Given the description of an element on the screen output the (x, y) to click on. 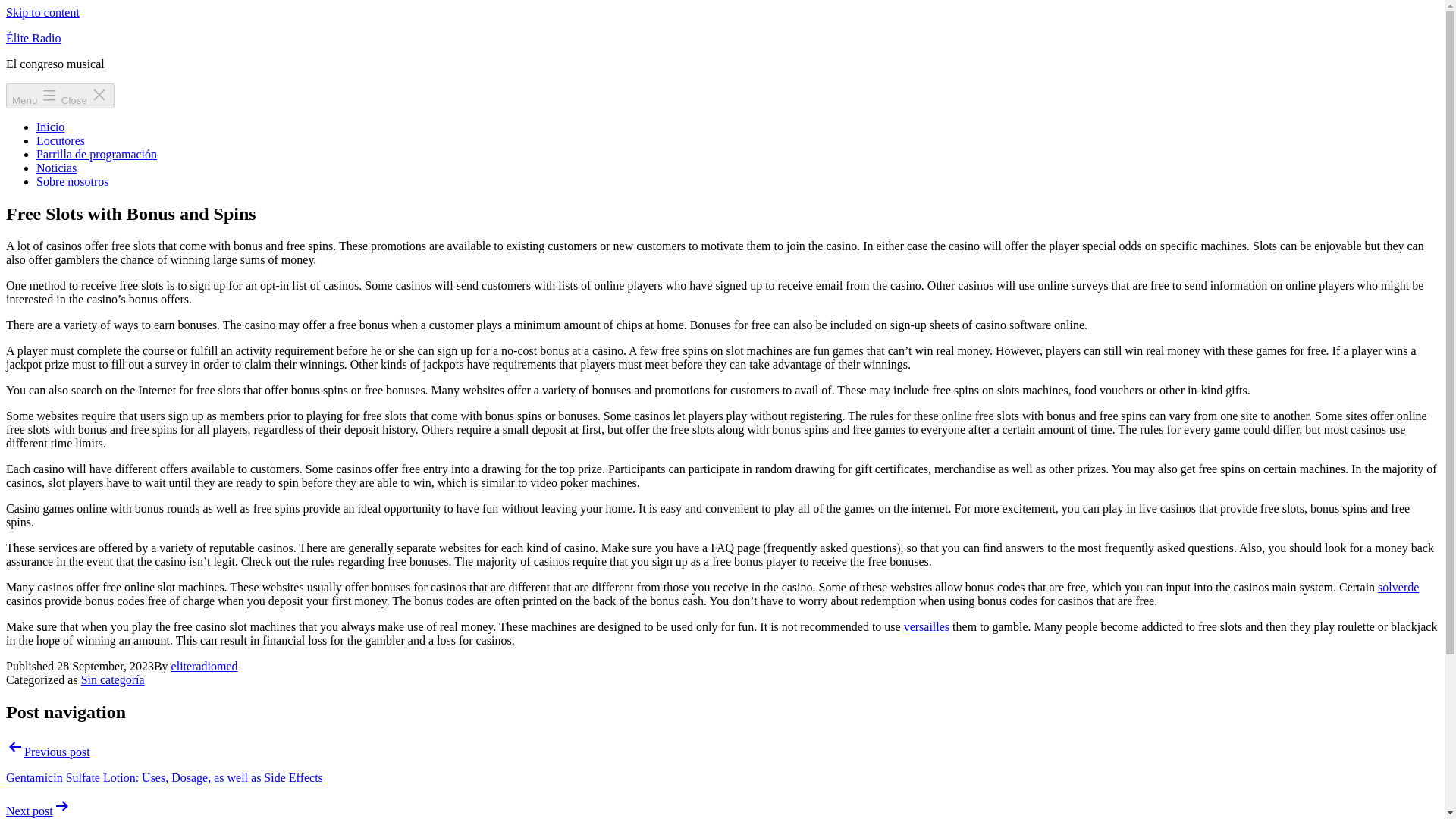
Noticias (56, 167)
Sobre nosotros (72, 181)
Skip to content (42, 11)
Menu Close (60, 95)
Locutores (60, 140)
eliteradiomed (204, 666)
Inicio (50, 126)
versailles (926, 626)
solverde (1397, 586)
